Given the description of an element on the screen output the (x, y) to click on. 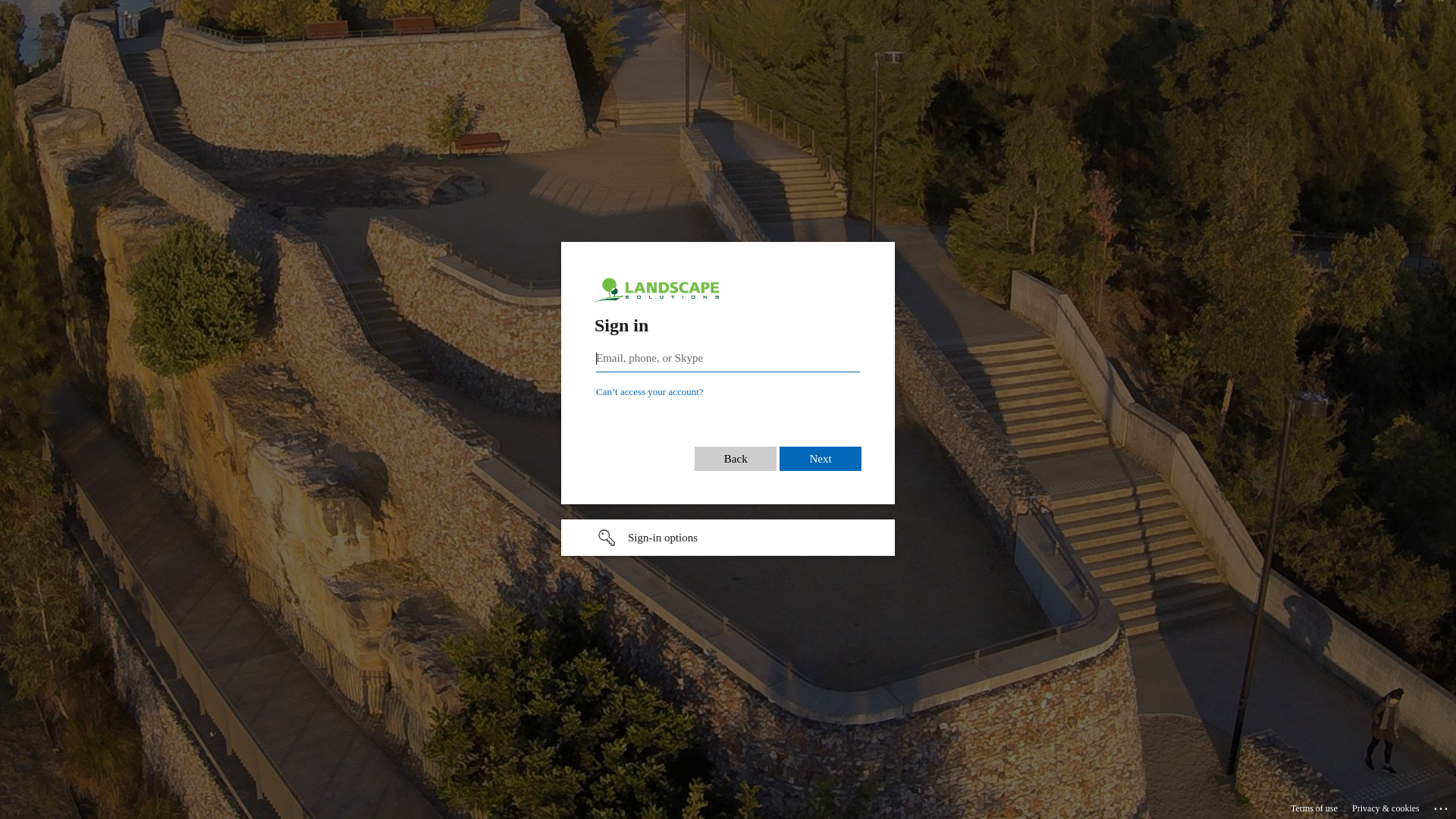
... Element type: text (1441, 805)
Next Element type: text (820, 458)
